Given the description of an element on the screen output the (x, y) to click on. 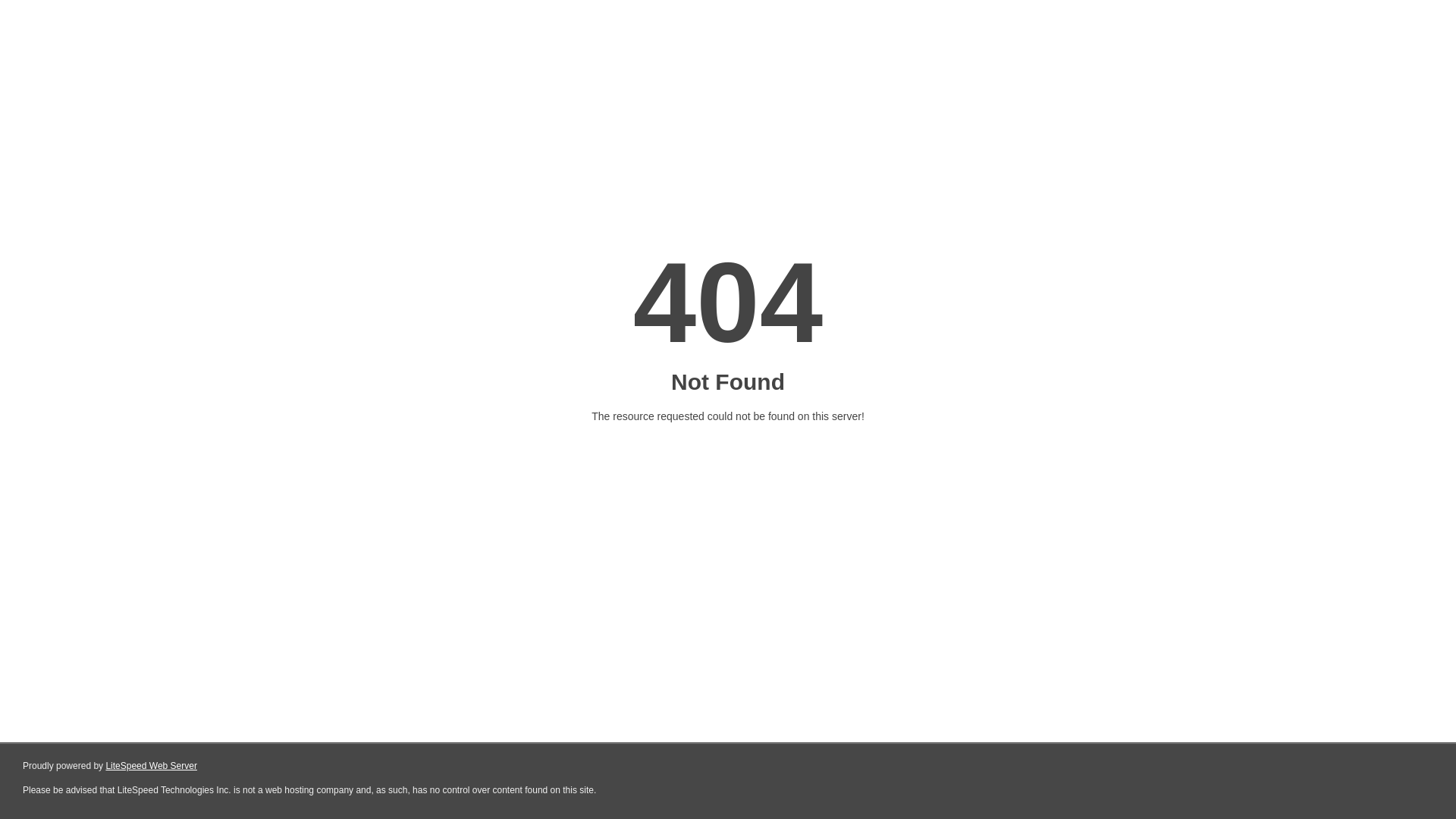
LiteSpeed Web Server Element type: text (151, 765)
